Given the description of an element on the screen output the (x, y) to click on. 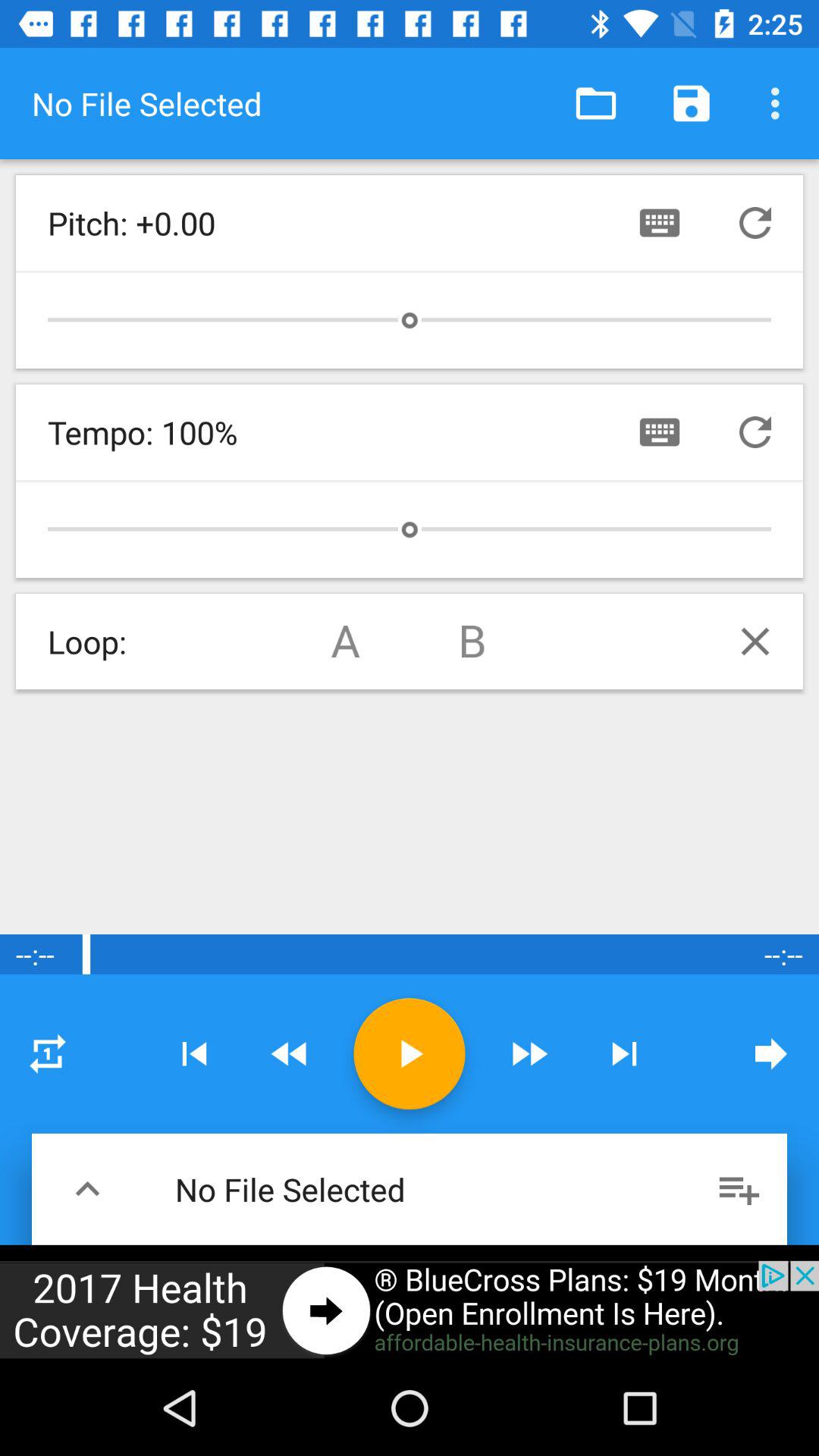
advertisement (409, 1310)
